Given the description of an element on the screen output the (x, y) to click on. 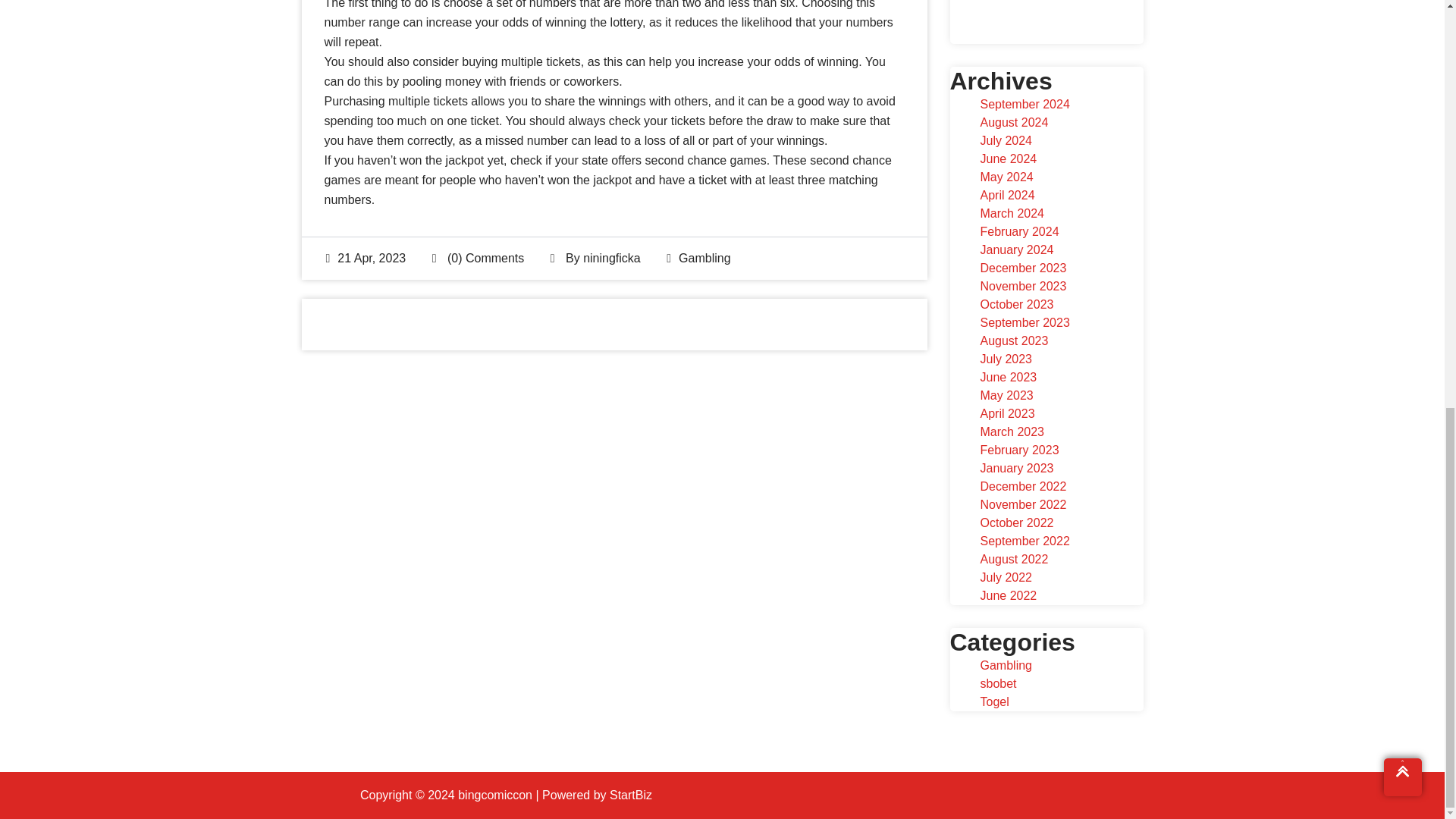
March 2023 (1011, 431)
September 2024 (1023, 103)
April 2024 (1006, 195)
May 2024 (1005, 176)
April 2023 (1006, 413)
November 2023 (1022, 286)
May 2023 (1005, 395)
September 2023 (1023, 322)
January 2024 (1015, 249)
August 2023 (1013, 340)
